Given the description of an element on the screen output the (x, y) to click on. 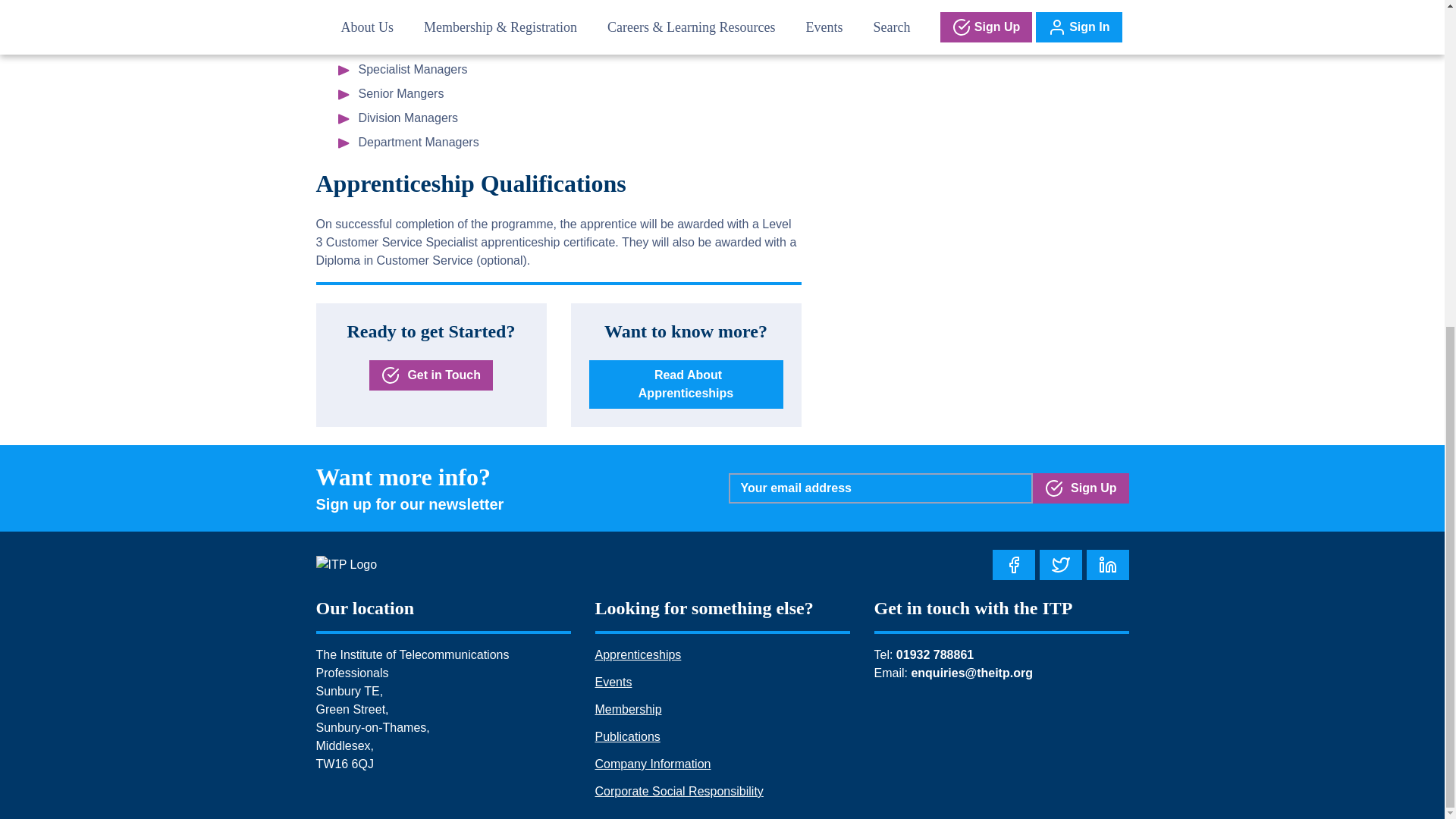
Read About Apprenticeships (685, 384)
Sign Up (1080, 488)
Get in Touch (431, 375)
Membership (627, 708)
Apprenticeships (637, 654)
Events (612, 681)
